Given the description of an element on the screen output the (x, y) to click on. 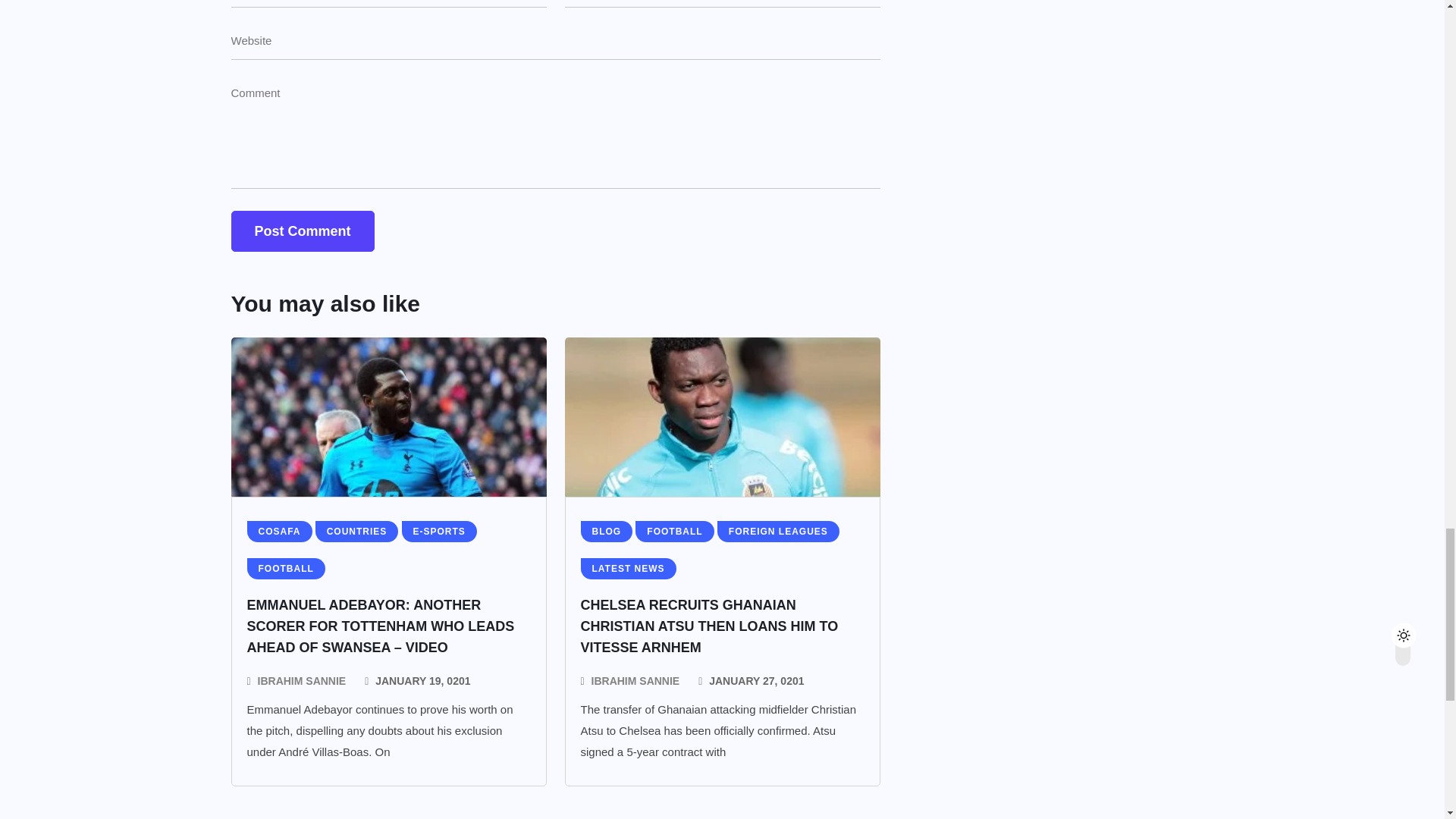
Post Comment (302, 230)
aderage-300x159 - AfricaSoccer.com (388, 416)
